Given the description of an element on the screen output the (x, y) to click on. 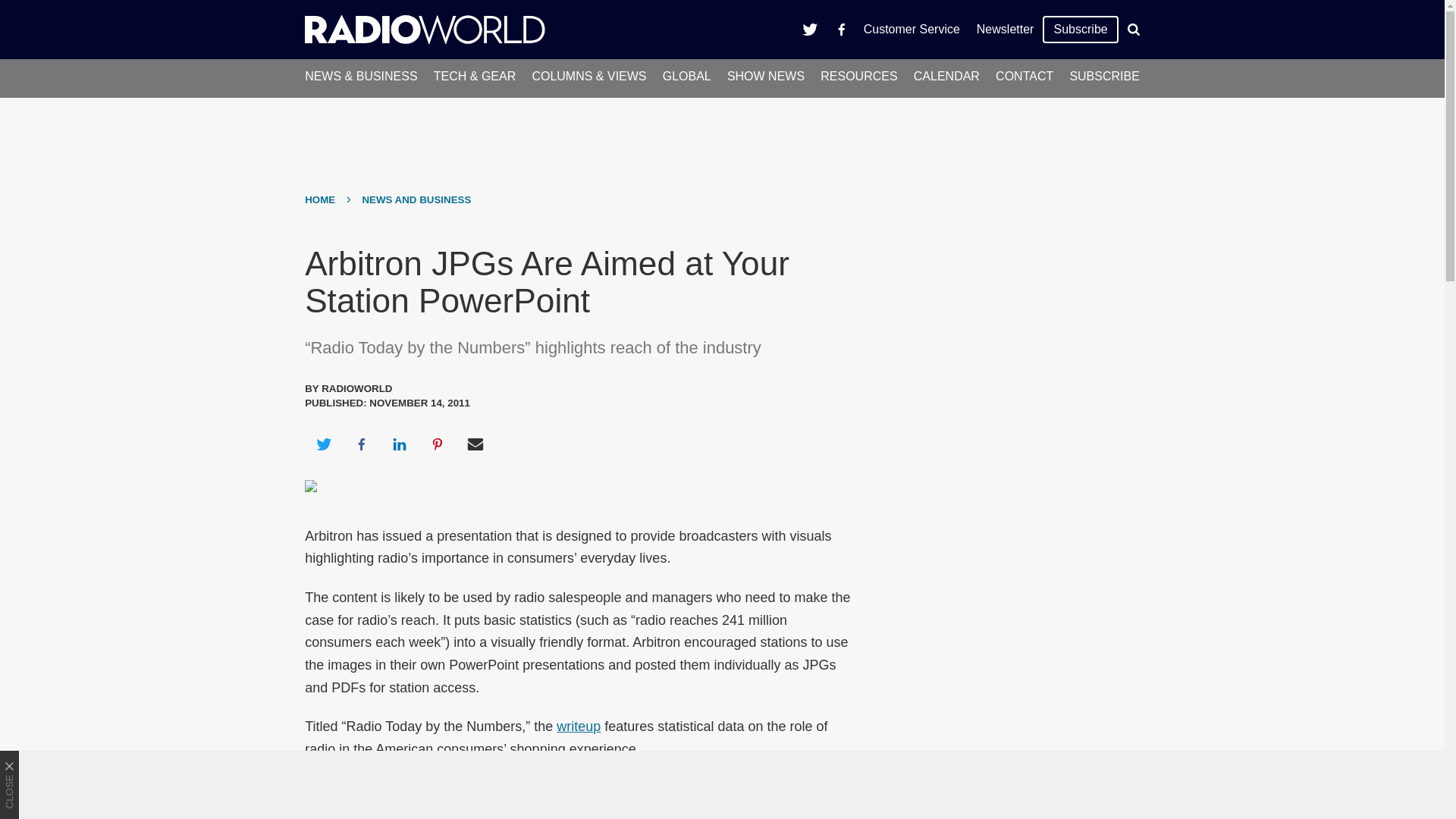
Share on LinkedIn (399, 444)
Share on Facebook (361, 444)
Share on Twitter (323, 444)
Share on Pinterest (438, 444)
Share via Email (476, 444)
Customer Service (912, 29)
